Given the description of an element on the screen output the (x, y) to click on. 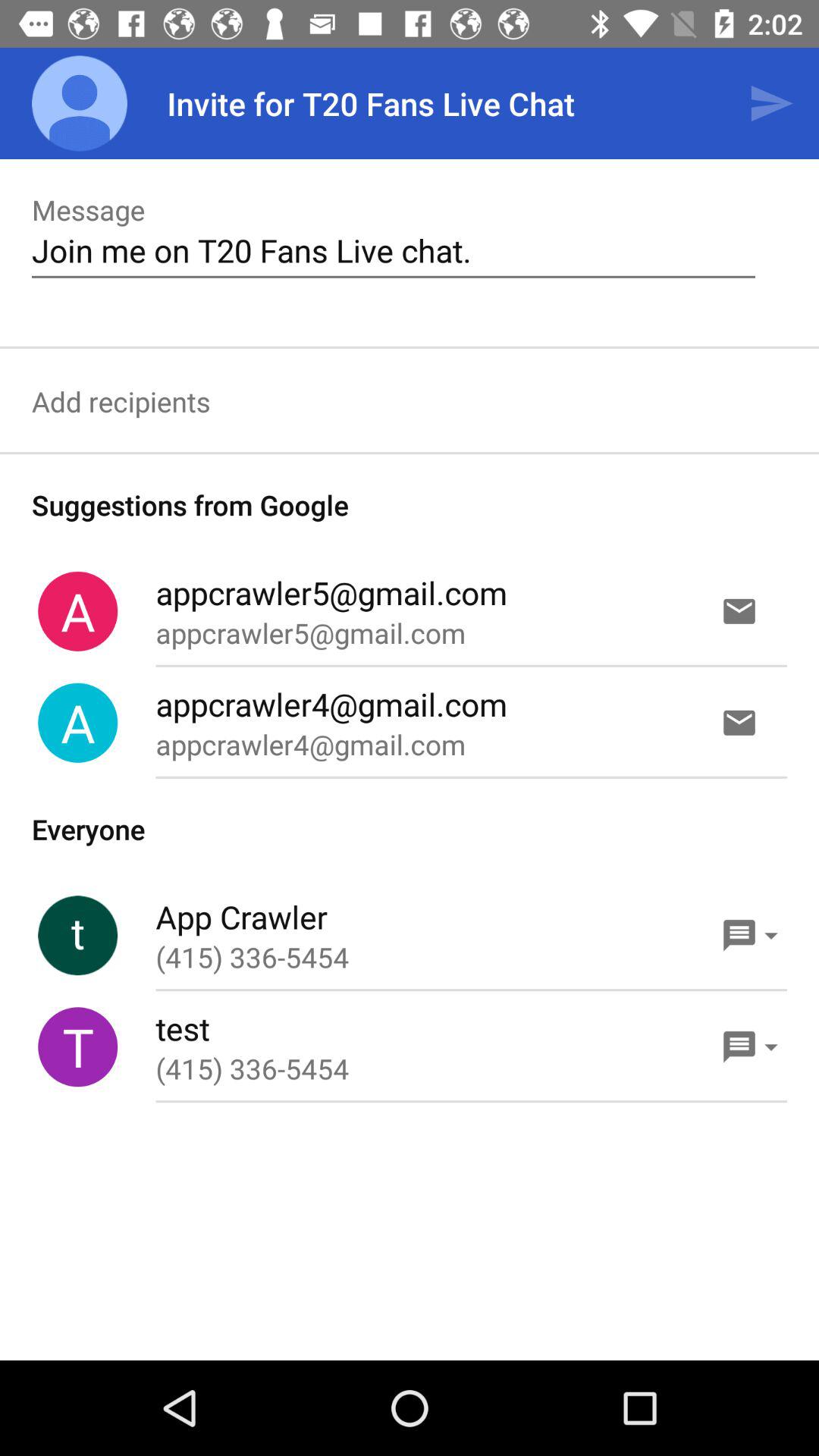
select icon to the left of the invite for t20 item (79, 103)
